Given the description of an element on the screen output the (x, y) to click on. 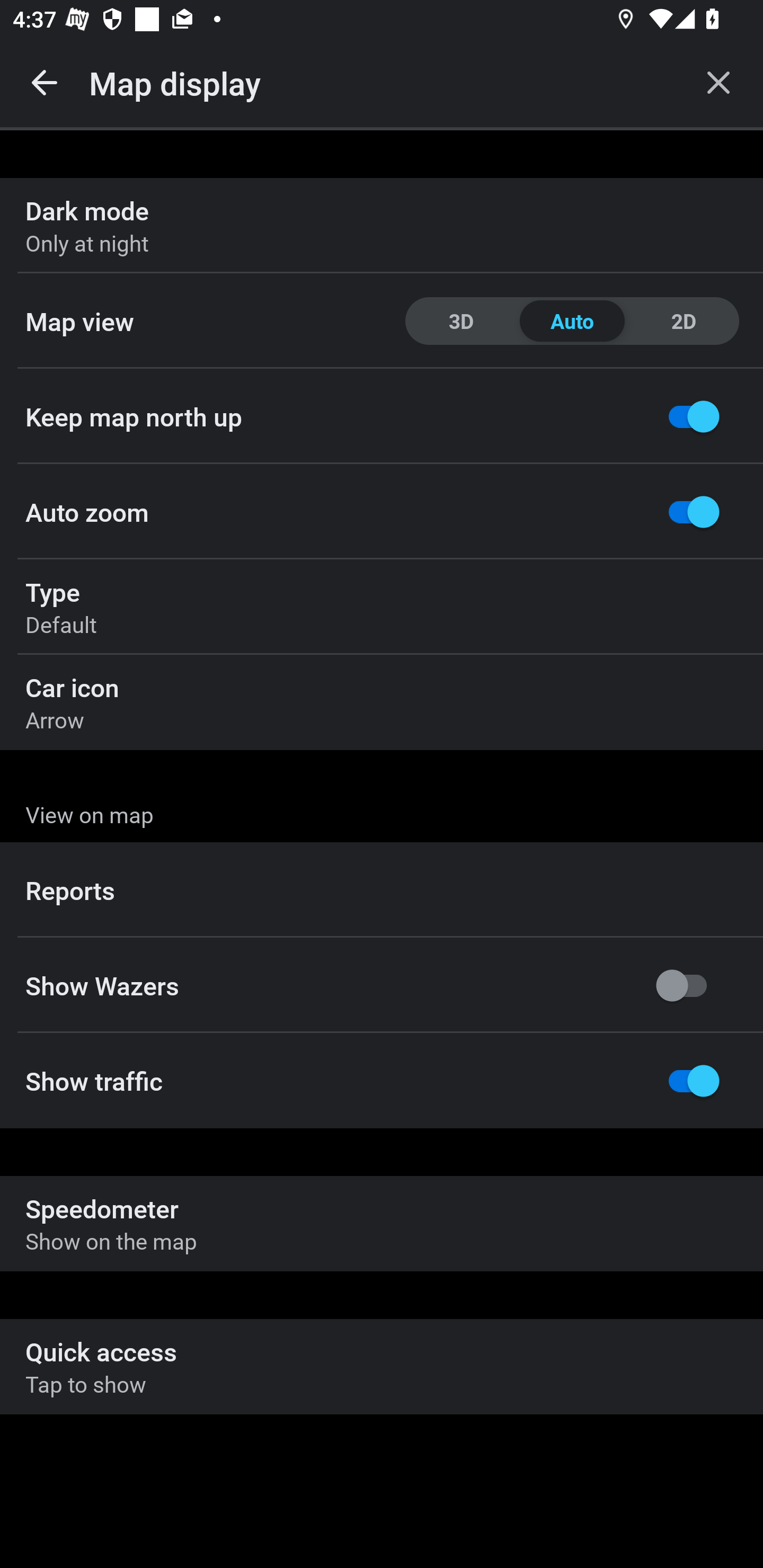
Dark mode Only at night (381, 225)
Keep map north up (381, 416)
Auto zoom (381, 511)
Type Default (381, 607)
Car icon Arrow (381, 702)
Reports (381, 889)
Show Wazers (381, 985)
Show traffic (381, 1080)
Speedometer Show on the map (381, 1223)
Quick access Tap to show (381, 1366)
